Given the description of an element on the screen output the (x, y) to click on. 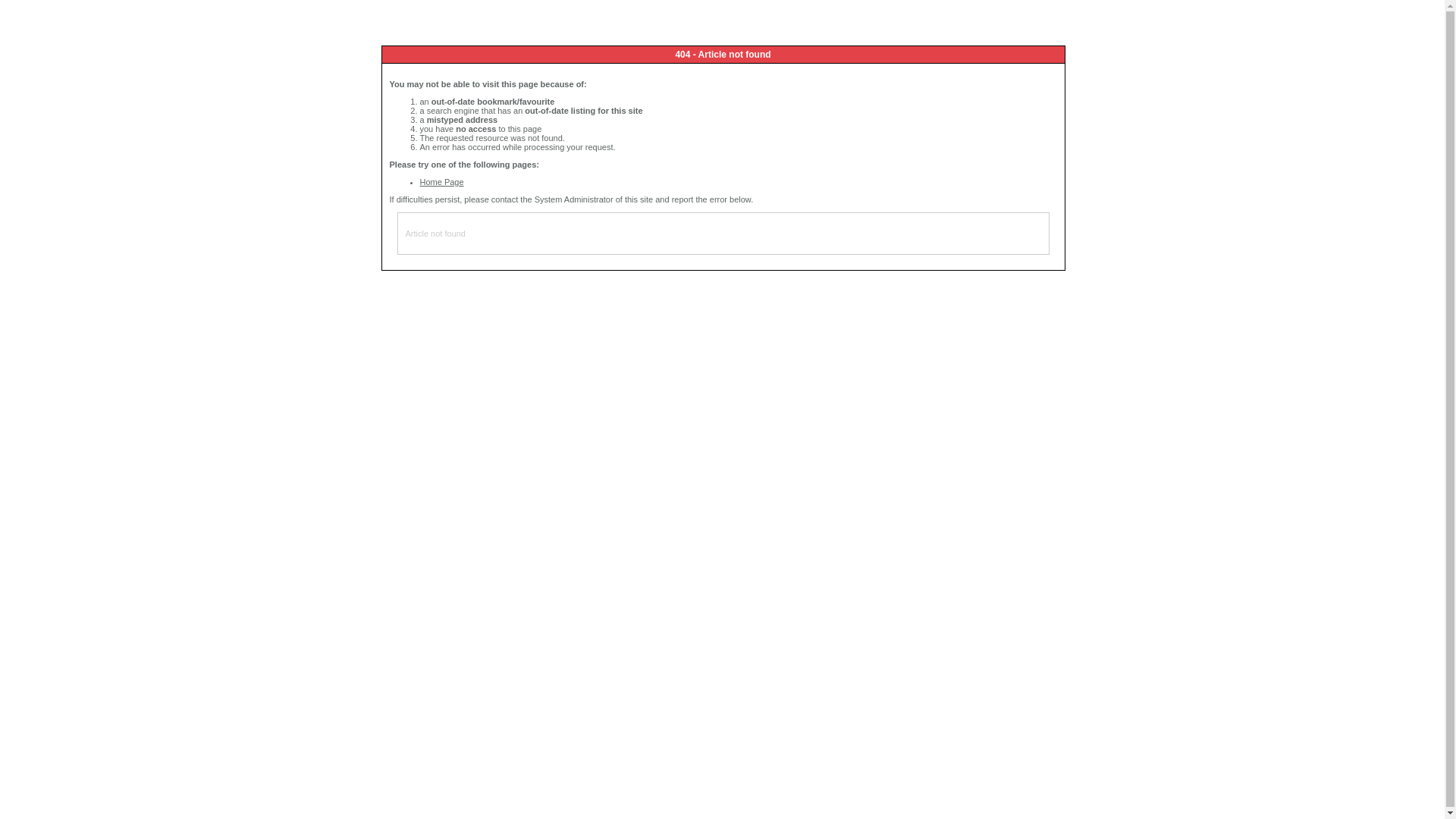
Home Page Element type: text (442, 181)
